Given the description of an element on the screen output the (x, y) to click on. 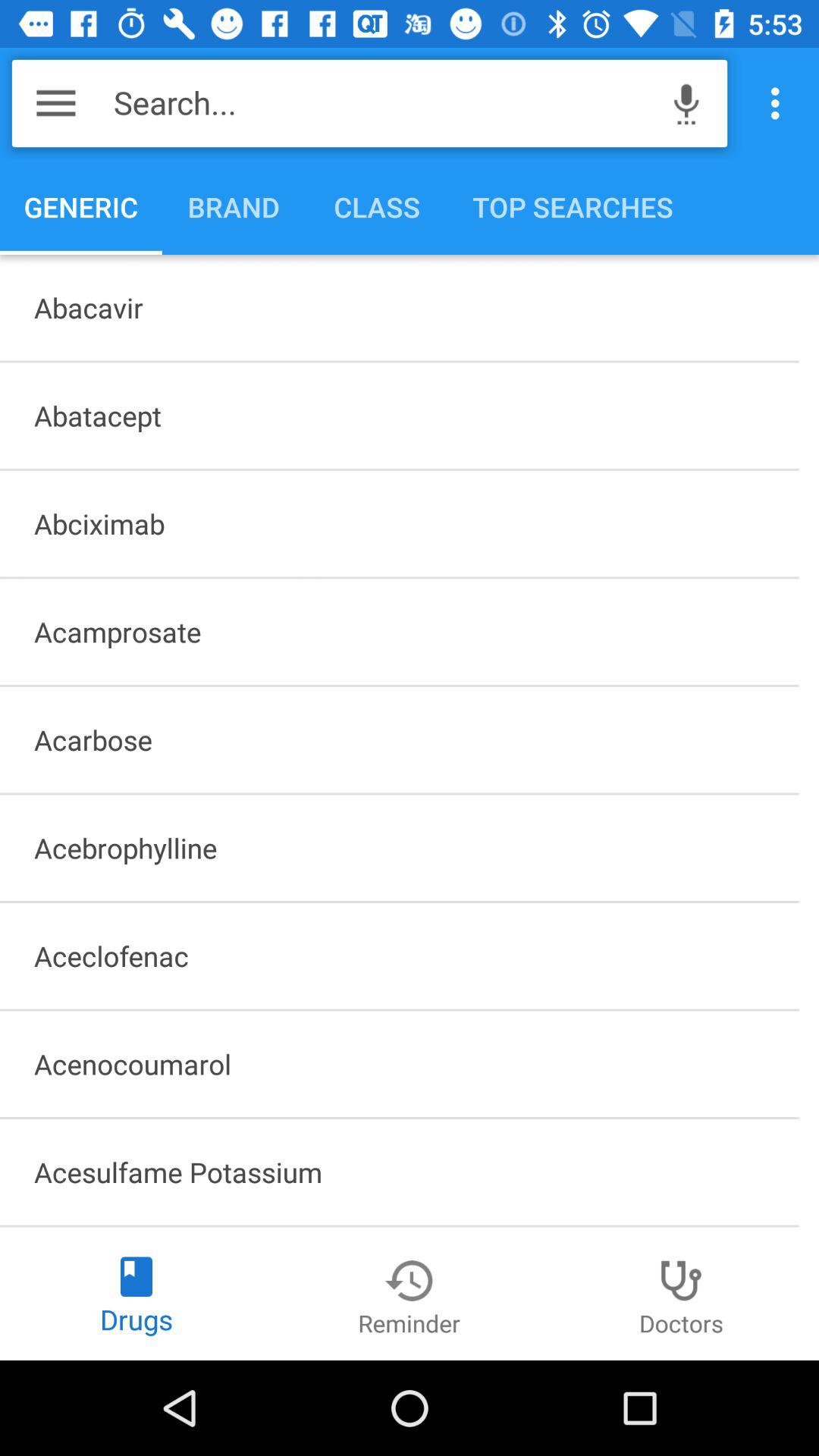
tap the item next to the search... item (686, 103)
